Given the description of an element on the screen output the (x, y) to click on. 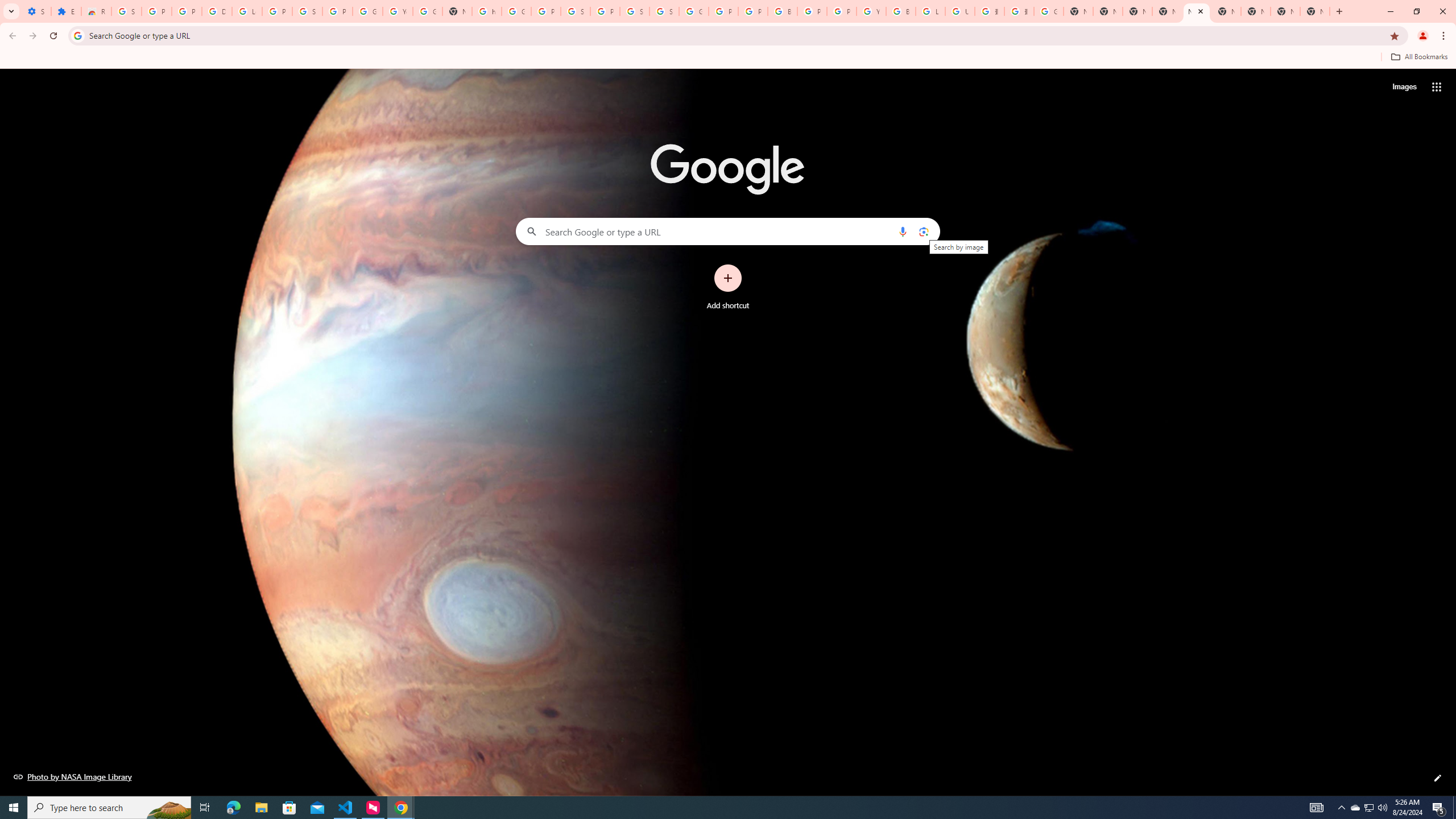
Google Account (367, 11)
Search Google or type a URL (727, 230)
Sign in - Google Accounts (306, 11)
Sign in - Google Accounts (575, 11)
All Bookmarks (1418, 56)
Browse Chrome as a guest - Computer - Google Chrome Help (900, 11)
Extensions (65, 11)
Privacy Help Center - Policies Help (723, 11)
